Given the description of an element on the screen output the (x, y) to click on. 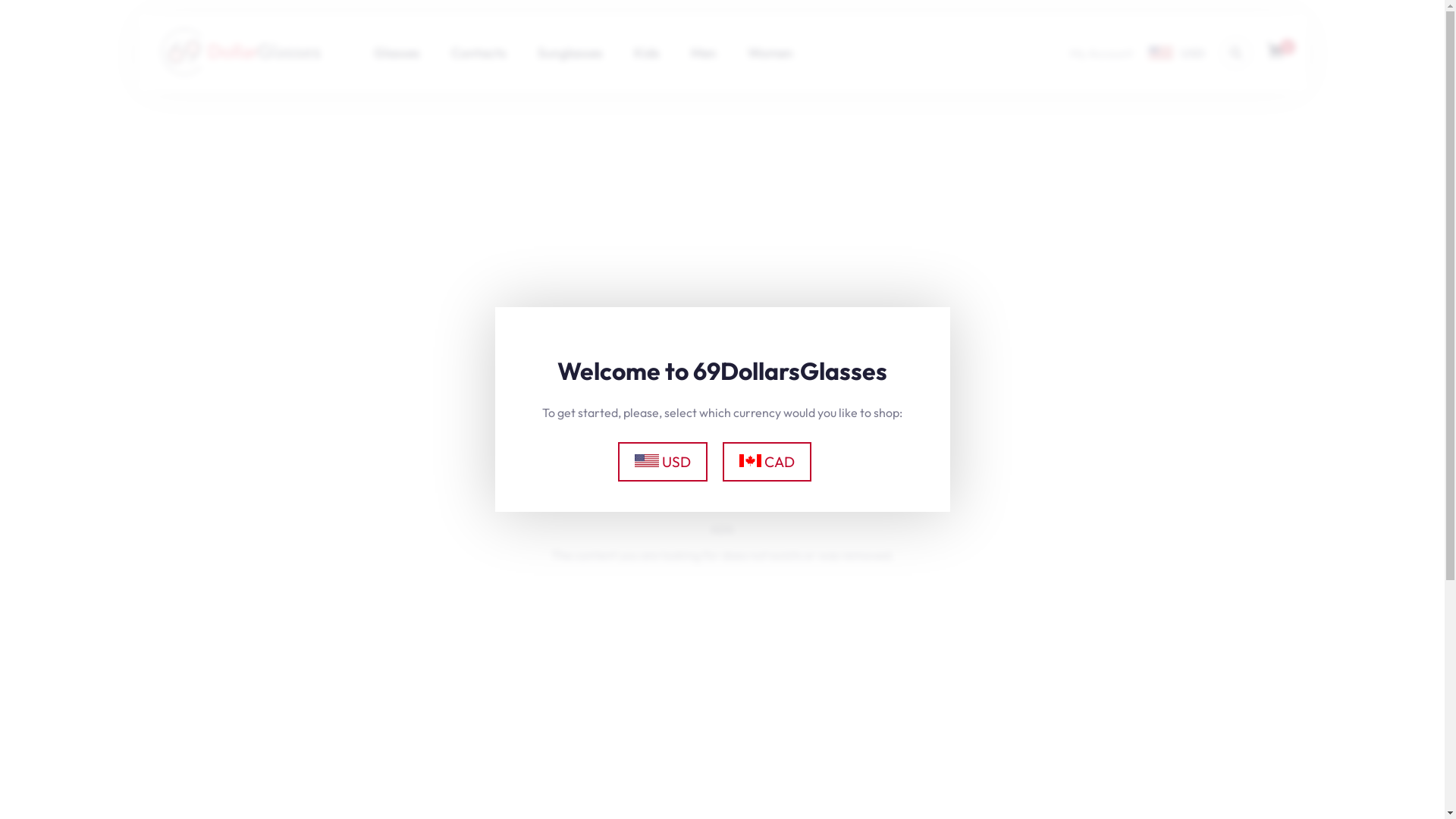
0 Element type: text (1274, 54)
CAD Element type: text (766, 461)
Men Element type: text (702, 52)
My Account Element type: text (1100, 52)
Kids Element type: text (646, 52)
USD Element type: text (662, 461)
Women Element type: text (770, 52)
Sunglasses Element type: text (569, 52)
Glasses Element type: text (396, 52)
Contacts Element type: text (477, 52)
